Given the description of an element on the screen output the (x, y) to click on. 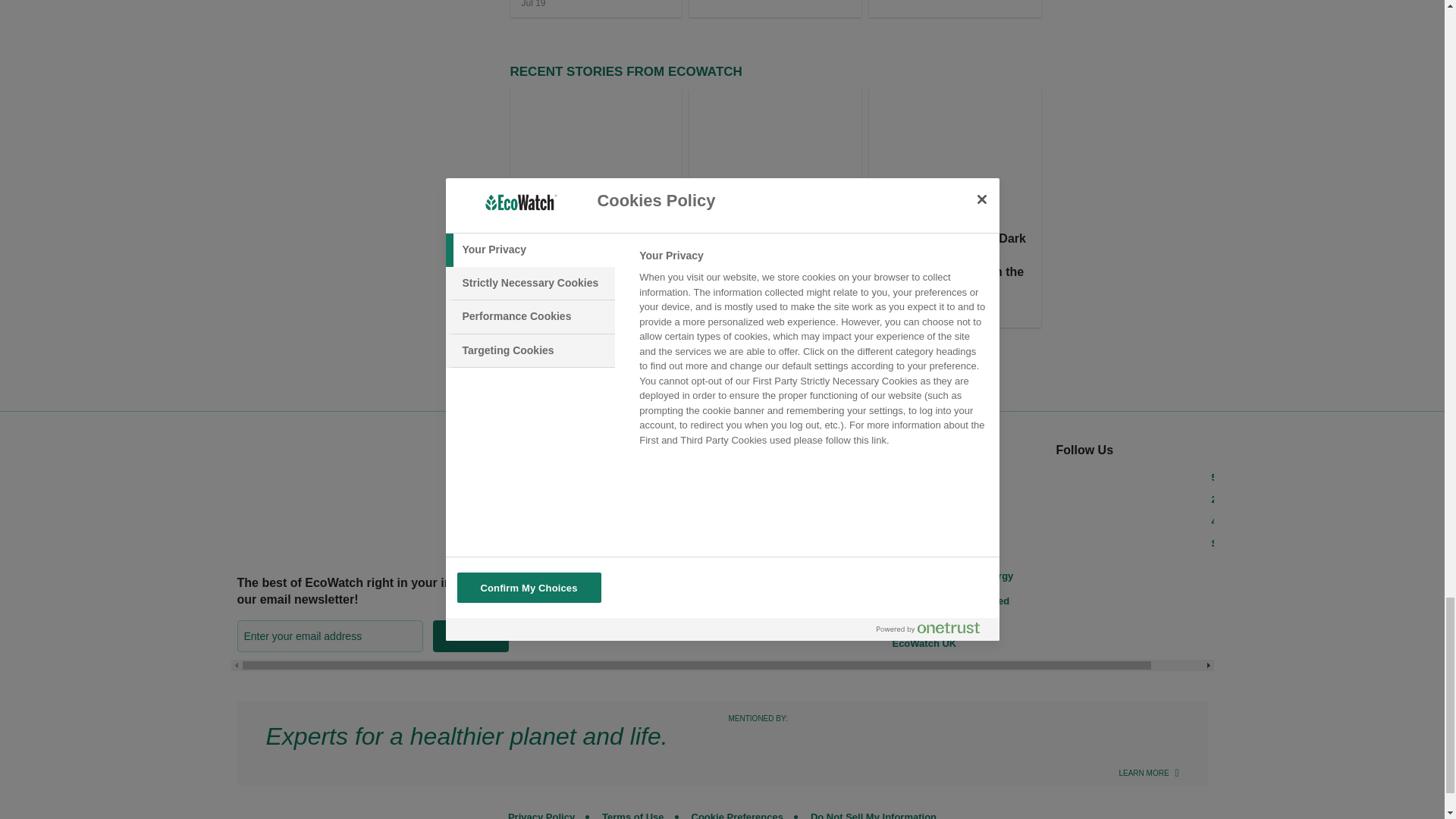
Sign Up (470, 635)
